Given the description of an element on the screen output the (x, y) to click on. 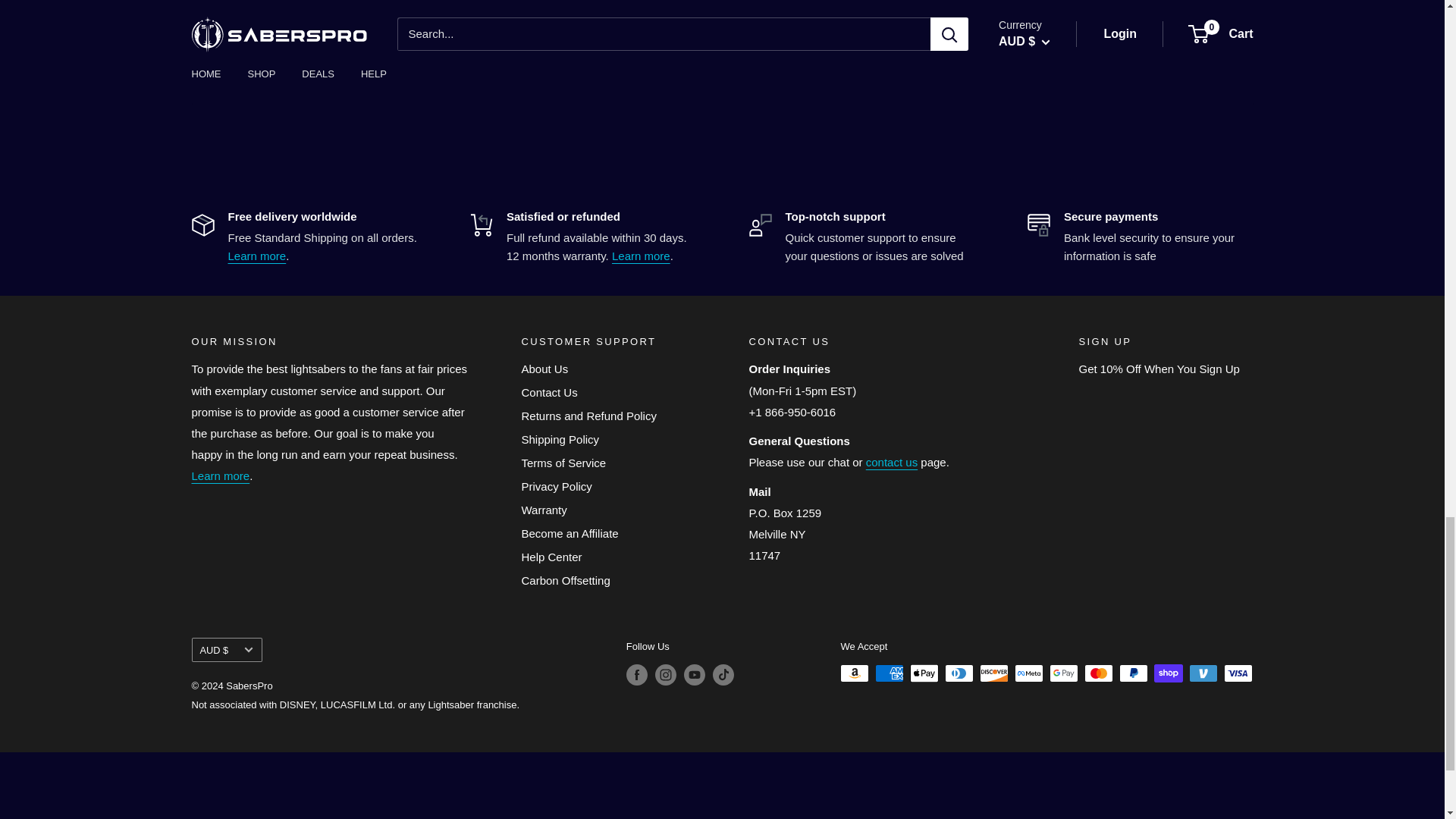
About Us (219, 475)
Contact Us (891, 461)
Refund Policy (640, 255)
Shipping Policy (256, 255)
